Given the description of an element on the screen output the (x, y) to click on. 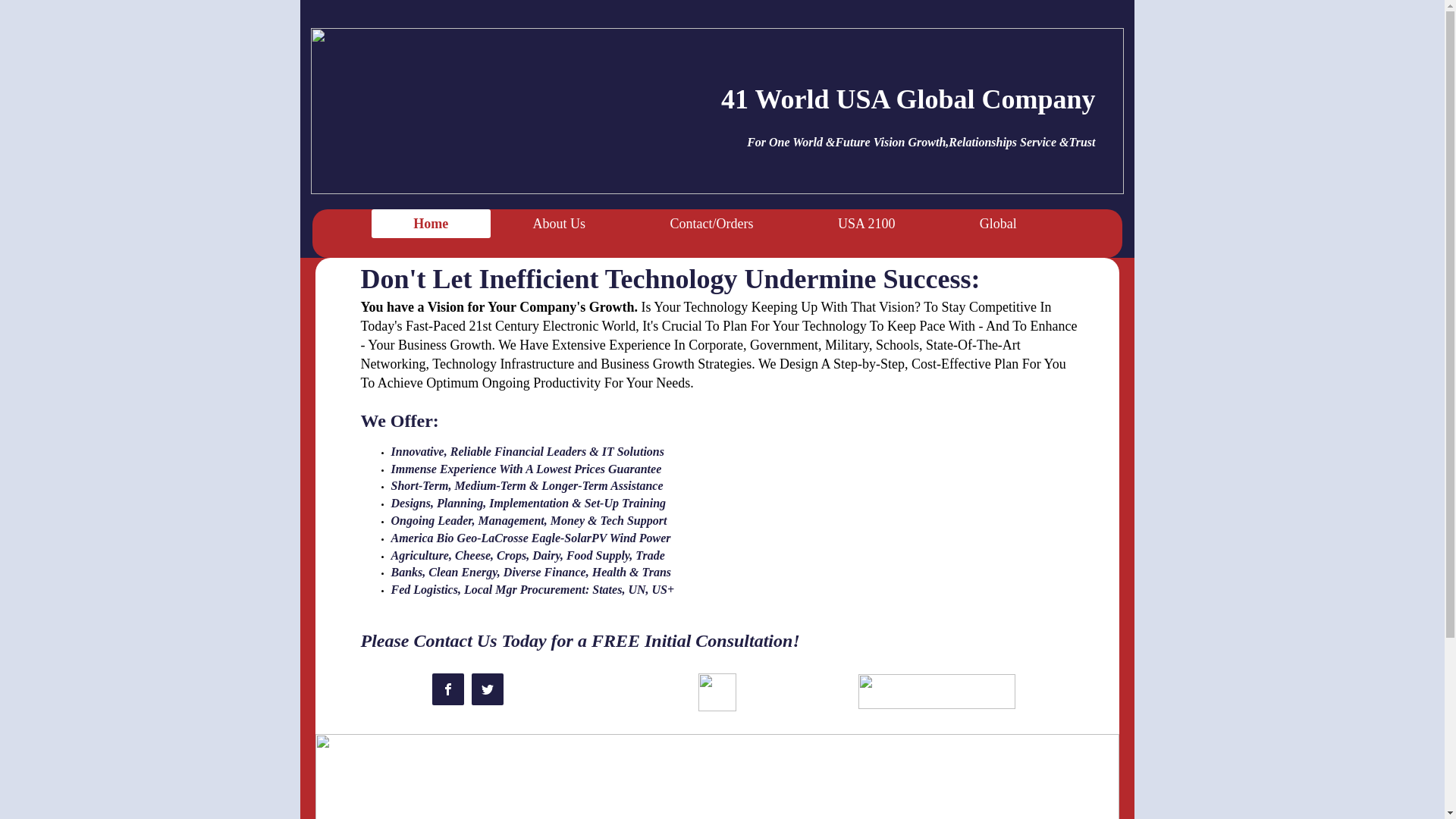
Home Element type: text (430, 223)
USA 2100 Element type: text (866, 223)
Contact/Orders Element type: text (711, 223)
About Us Element type: text (558, 223)
Global Element type: text (997, 223)
